Given the description of an element on the screen output the (x, y) to click on. 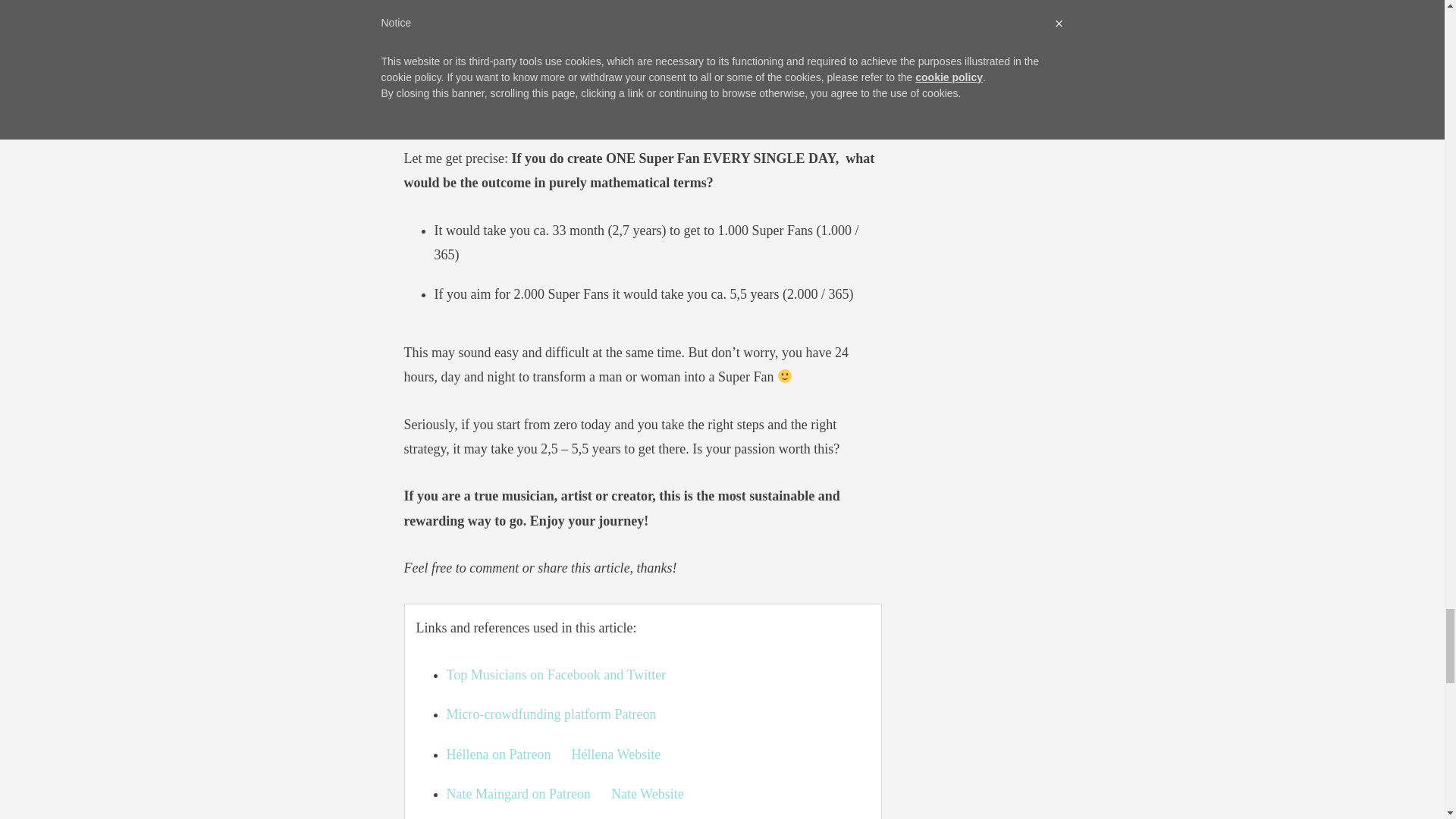
Micro-crowdfunding platform Patreon (551, 713)
Top Musicians on Facebook and Twitter (556, 674)
Nate Website (647, 793)
Nate Maingard on Patreon (518, 793)
